Given the description of an element on the screen output the (x, y) to click on. 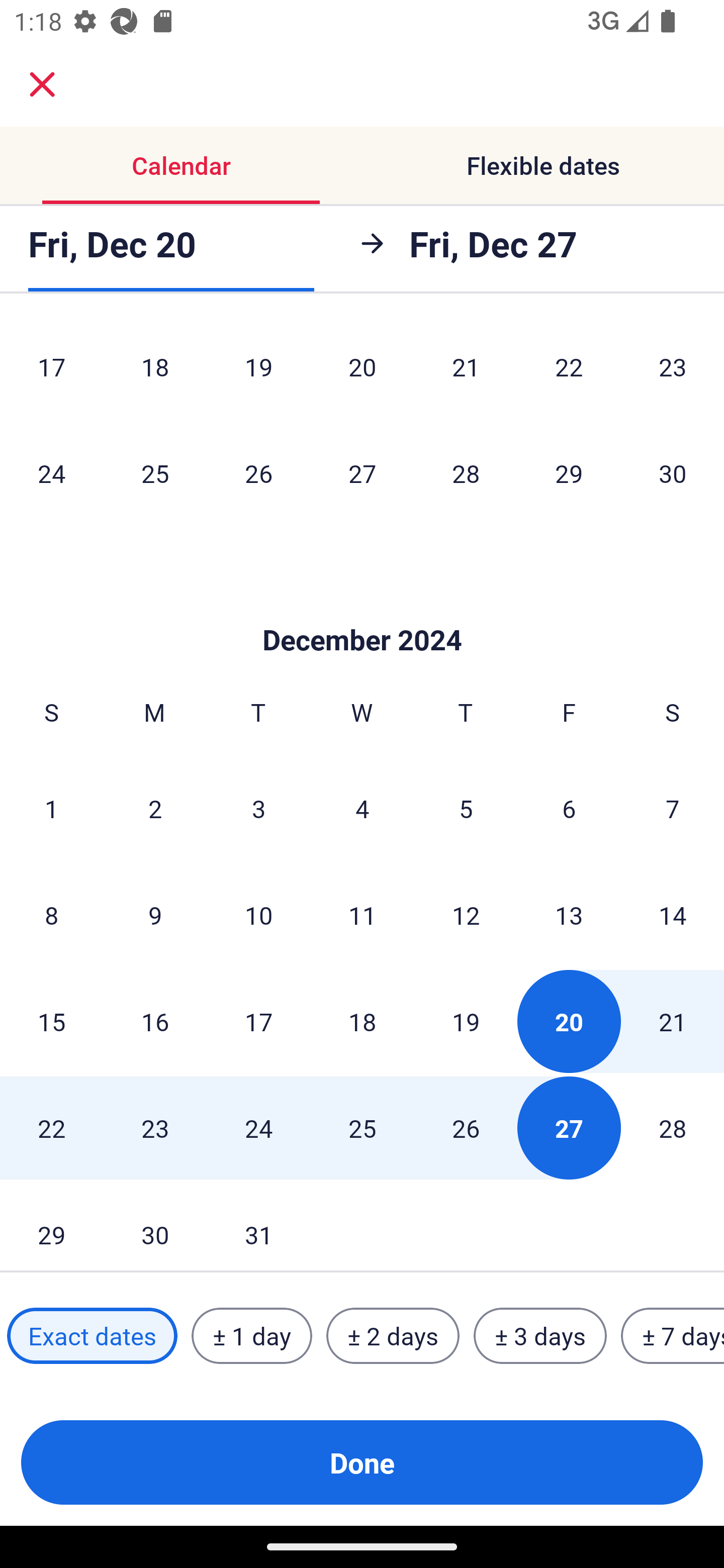
close. (42, 84)
Flexible dates (542, 164)
17 Sunday, November 17, 2024 (51, 369)
18 Monday, November 18, 2024 (155, 369)
19 Tuesday, November 19, 2024 (258, 369)
20 Wednesday, November 20, 2024 (362, 369)
21 Thursday, November 21, 2024 (465, 369)
22 Friday, November 22, 2024 (569, 369)
23 Saturday, November 23, 2024 (672, 369)
24 Sunday, November 24, 2024 (51, 473)
25 Monday, November 25, 2024 (155, 473)
26 Tuesday, November 26, 2024 (258, 473)
27 Wednesday, November 27, 2024 (362, 473)
28 Thursday, November 28, 2024 (465, 473)
29 Friday, November 29, 2024 (569, 473)
30 Saturday, November 30, 2024 (672, 473)
Skip to Done (362, 609)
1 Sunday, December 1, 2024 (51, 808)
2 Monday, December 2, 2024 (155, 808)
3 Tuesday, December 3, 2024 (258, 808)
4 Wednesday, December 4, 2024 (362, 808)
5 Thursday, December 5, 2024 (465, 808)
6 Friday, December 6, 2024 (569, 808)
7 Saturday, December 7, 2024 (672, 808)
8 Sunday, December 8, 2024 (51, 914)
9 Monday, December 9, 2024 (155, 914)
10 Tuesday, December 10, 2024 (258, 914)
11 Wednesday, December 11, 2024 (362, 914)
12 Thursday, December 12, 2024 (465, 914)
13 Friday, December 13, 2024 (569, 914)
14 Saturday, December 14, 2024 (672, 914)
15 Sunday, December 15, 2024 (51, 1021)
16 Monday, December 16, 2024 (155, 1021)
17 Tuesday, December 17, 2024 (258, 1021)
18 Wednesday, December 18, 2024 (362, 1021)
19 Thursday, December 19, 2024 (465, 1021)
28 Saturday, December 28, 2024 (672, 1128)
29 Sunday, December 29, 2024 (51, 1226)
30 Monday, December 30, 2024 (155, 1226)
31 Tuesday, December 31, 2024 (258, 1226)
Exact dates (92, 1335)
± 1 day (251, 1335)
± 2 days (392, 1335)
± 3 days (539, 1335)
± 7 days (672, 1335)
Done (361, 1462)
